Given the description of an element on the screen output the (x, y) to click on. 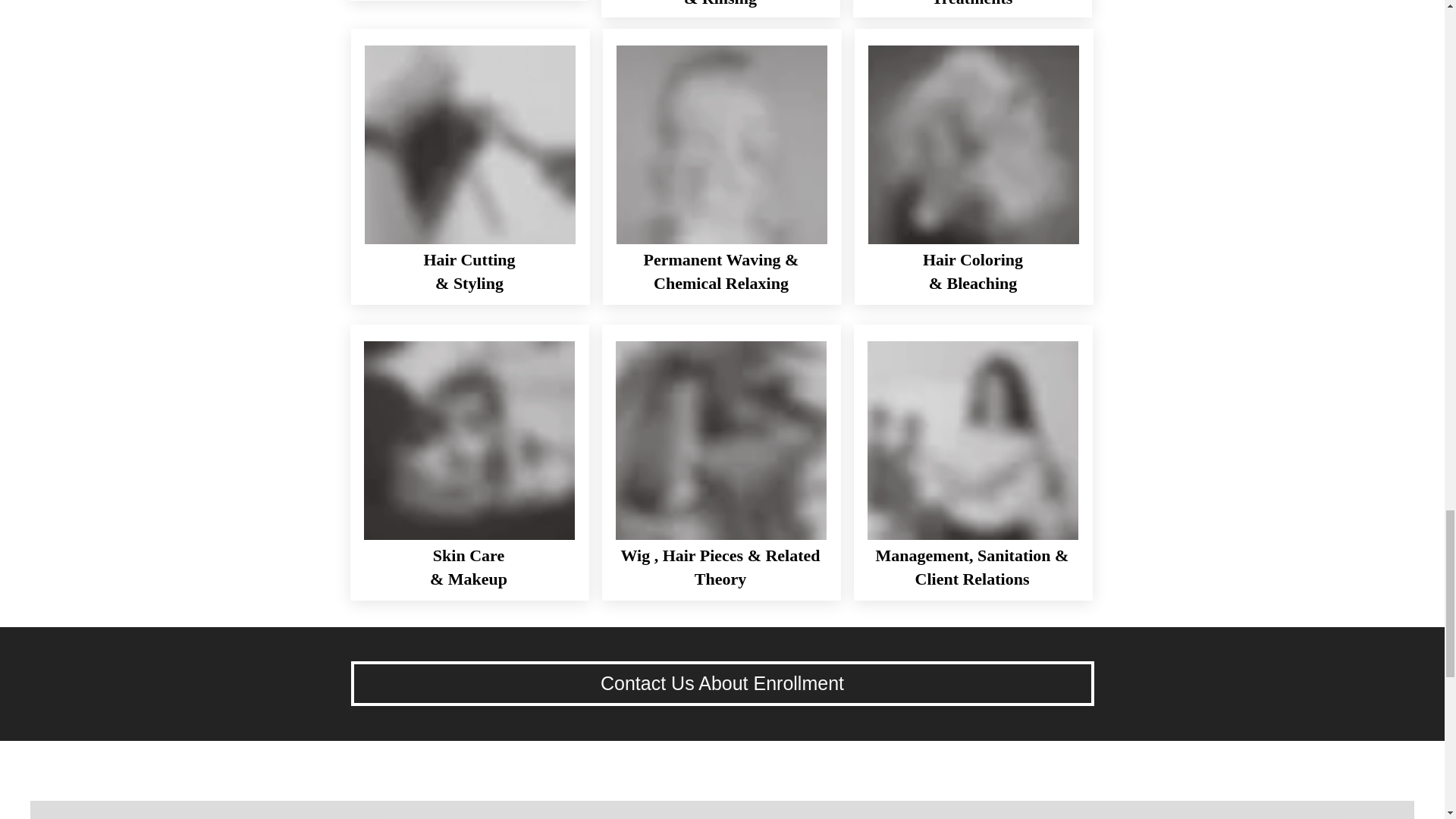
Contact Us About Enrollment (721, 682)
